Given the description of an element on the screen output the (x, y) to click on. 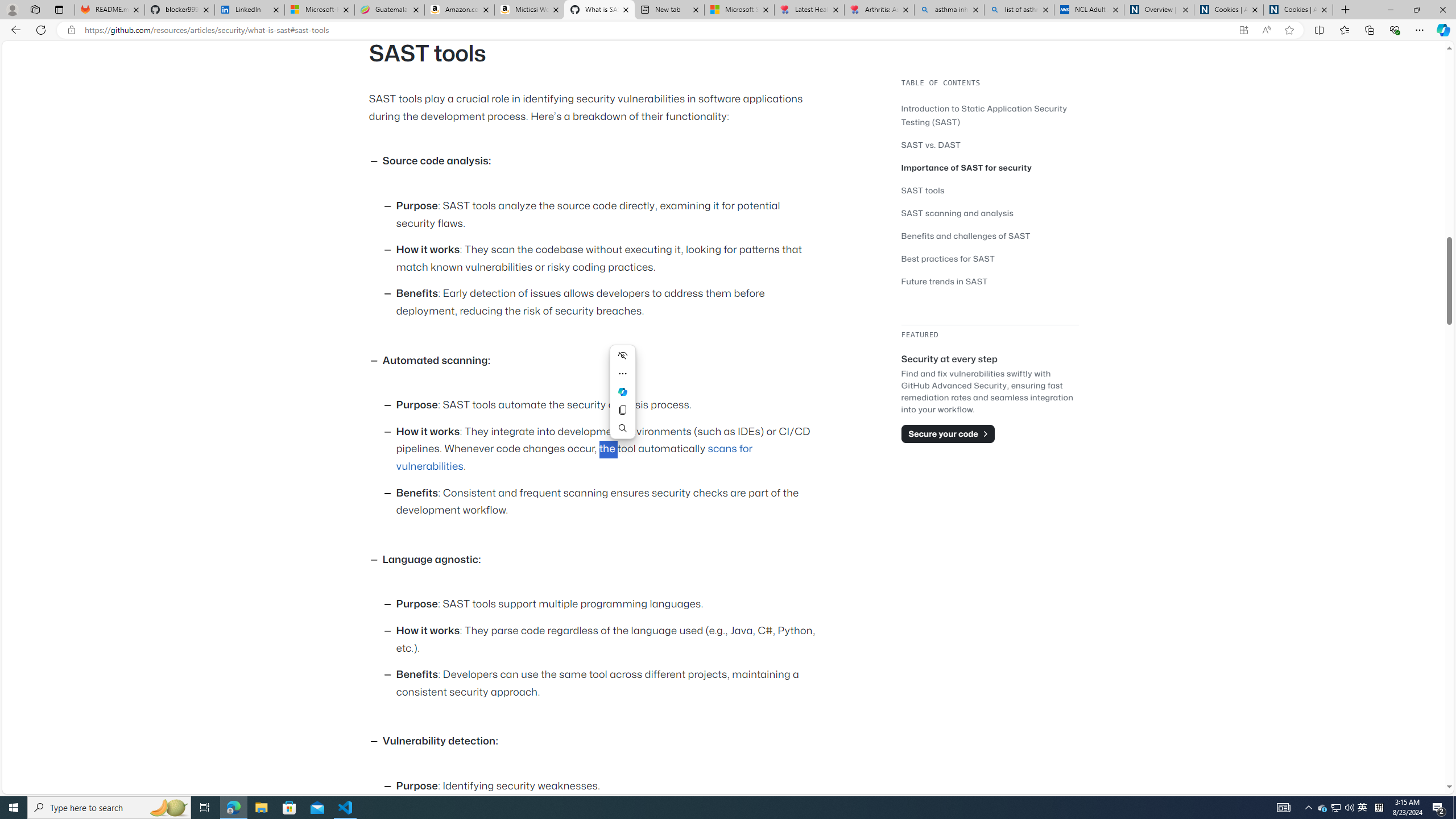
Introduction to Static Application Security Testing (SAST) (984, 114)
SAST tools (922, 189)
Ask Copilot (622, 391)
asthma inhaler - Search (949, 9)
Benefits and challenges of SAST (965, 235)
Arthritis: Ask Health Professionals (879, 9)
SAST vs. DAST (989, 144)
